Given the description of an element on the screen output the (x, y) to click on. 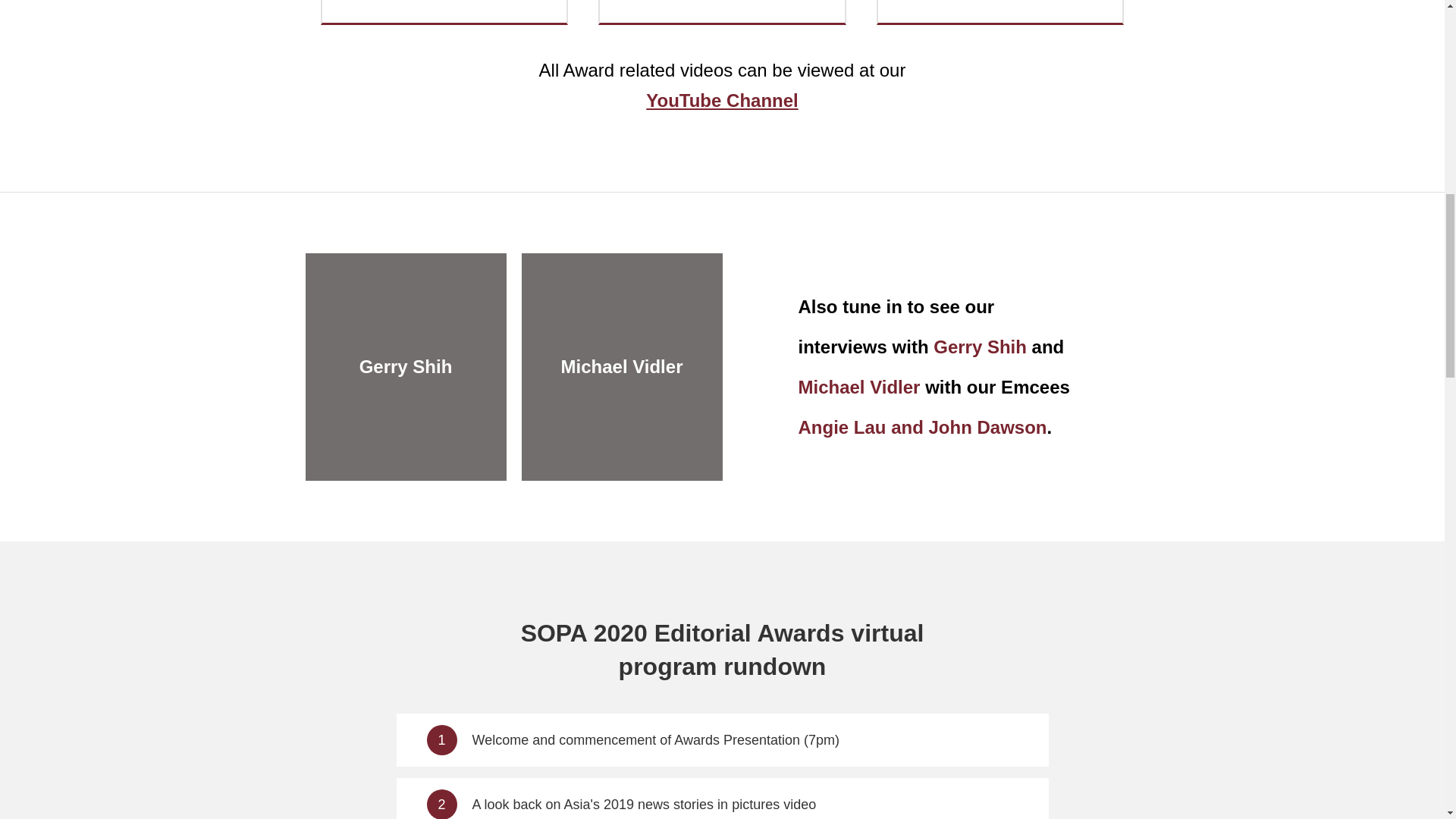
Michael Vidler (621, 366)
Gerry Shih (405, 366)
